Given the description of an element on the screen output the (x, y) to click on. 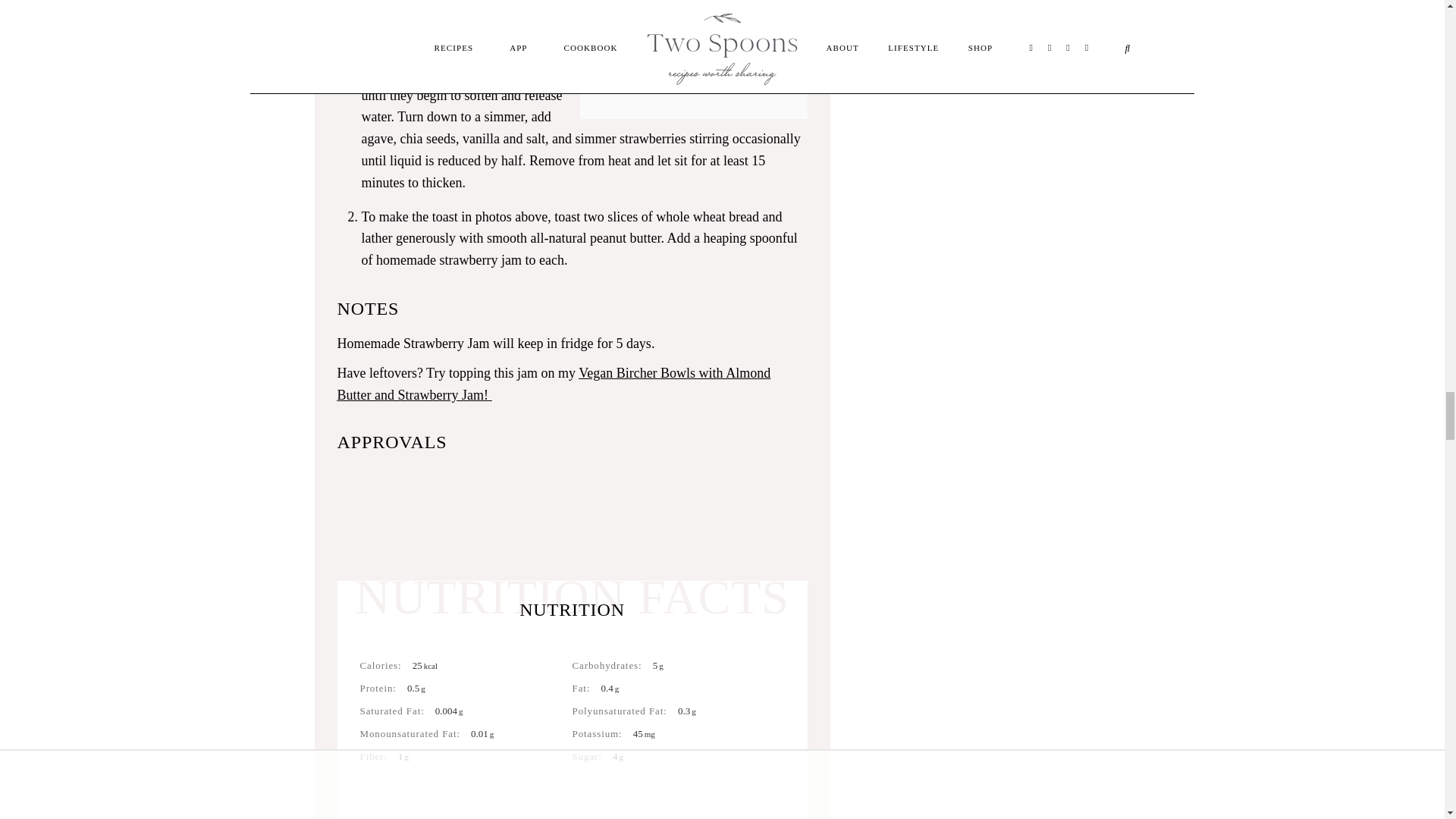
Vegan Bircher Bowls with Almond Butter and Strawberry Jam!  (553, 383)
